Given the description of an element on the screen output the (x, y) to click on. 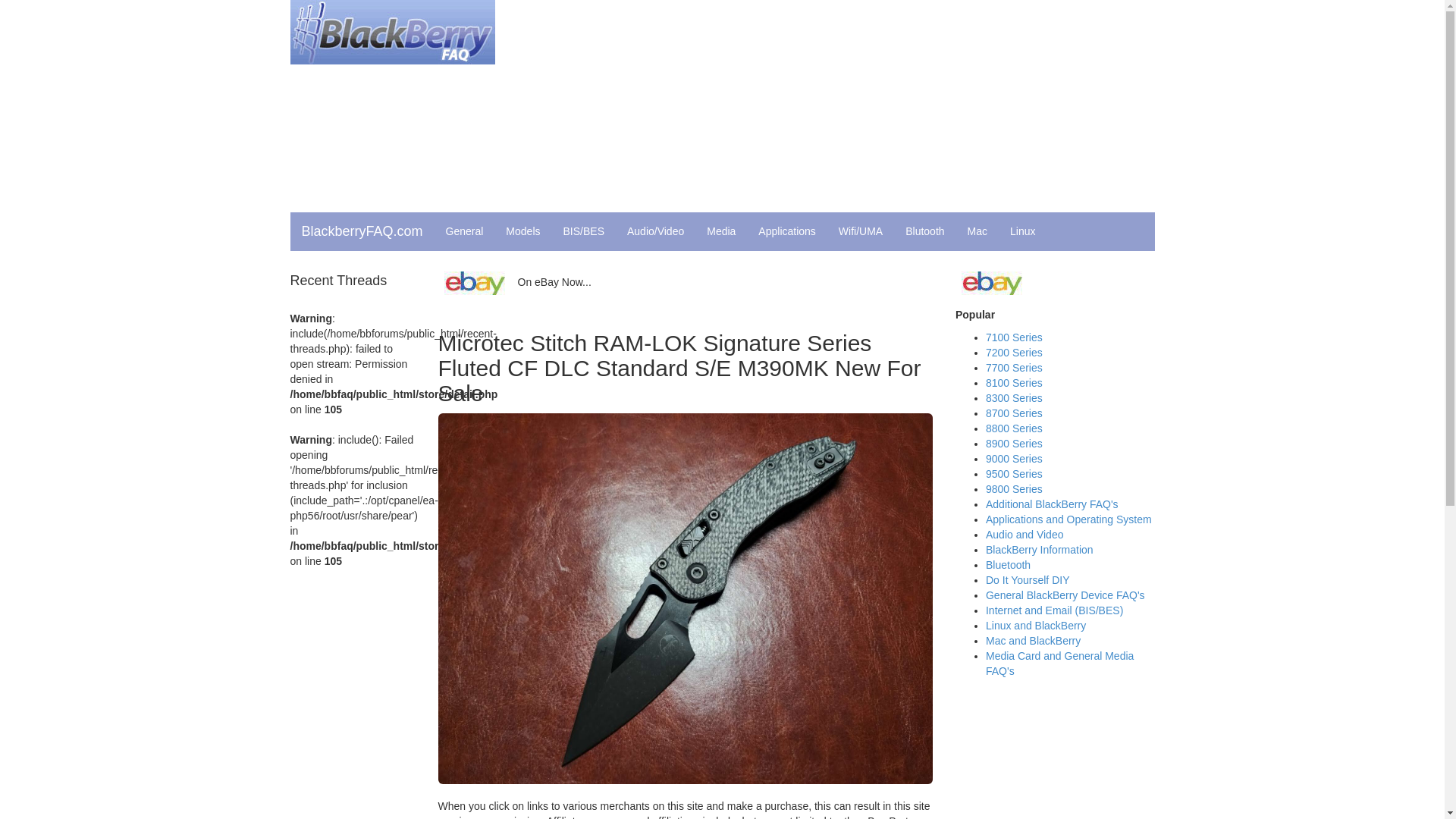
Do It Yourself DIY (1027, 580)
Mac (977, 231)
Models (523, 231)
Linux and BlackBerry (1035, 625)
Bluetooth (1007, 564)
Additional BlackBerry FAQ's (1051, 503)
8800 Series (1013, 428)
Blutooth (924, 231)
9000 Series (1013, 458)
Applications and Operating System (1068, 519)
7100 Series (1013, 337)
Mac and BlackBerry (1032, 640)
Audio and Video (1024, 534)
Applications (786, 231)
9800 Series (1013, 489)
